Given the description of an element on the screen output the (x, y) to click on. 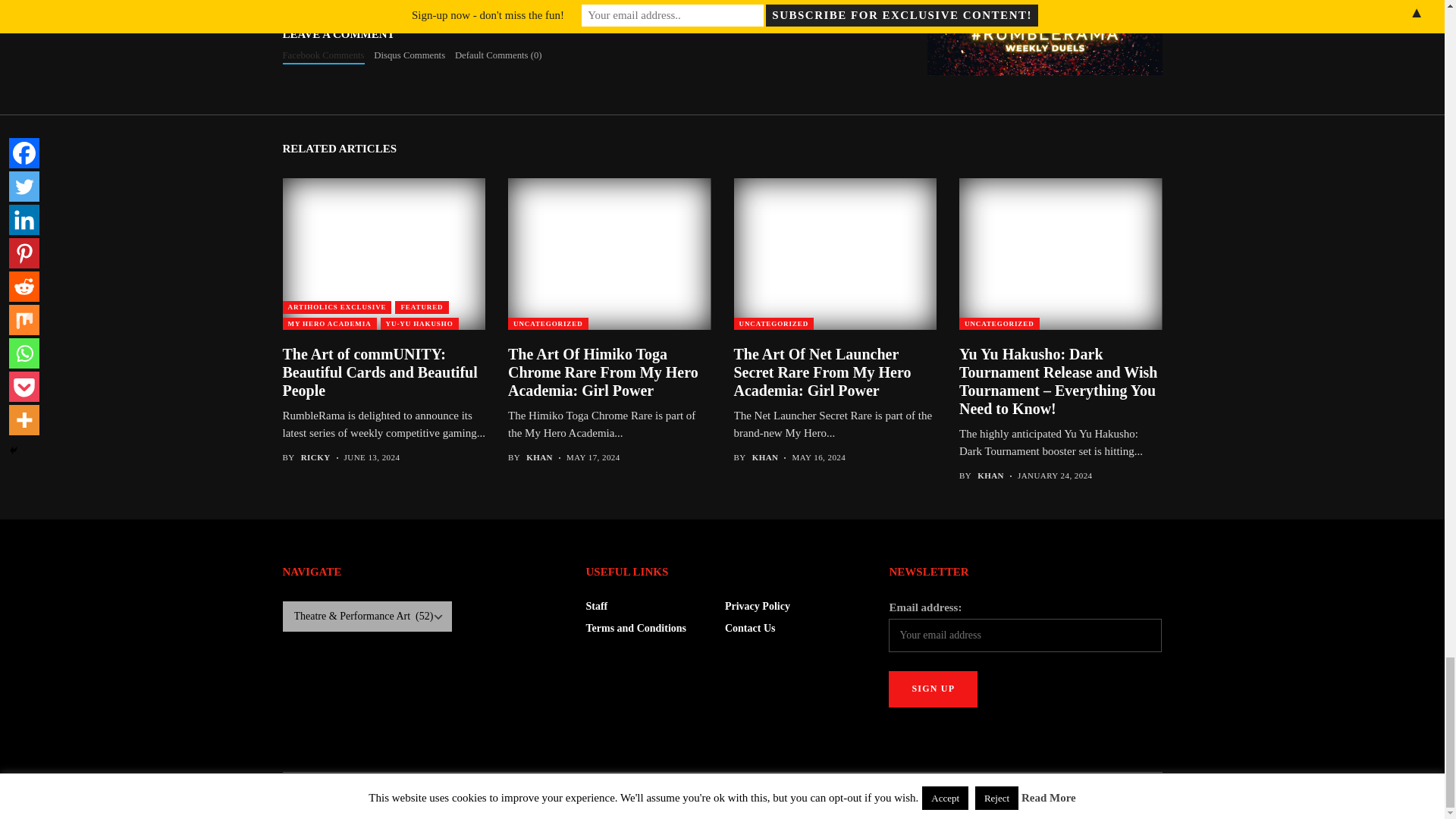
Posts by Ricky (315, 457)
Posts by Khan (539, 457)
Sign up (932, 688)
